Given the description of an element on the screen output the (x, y) to click on. 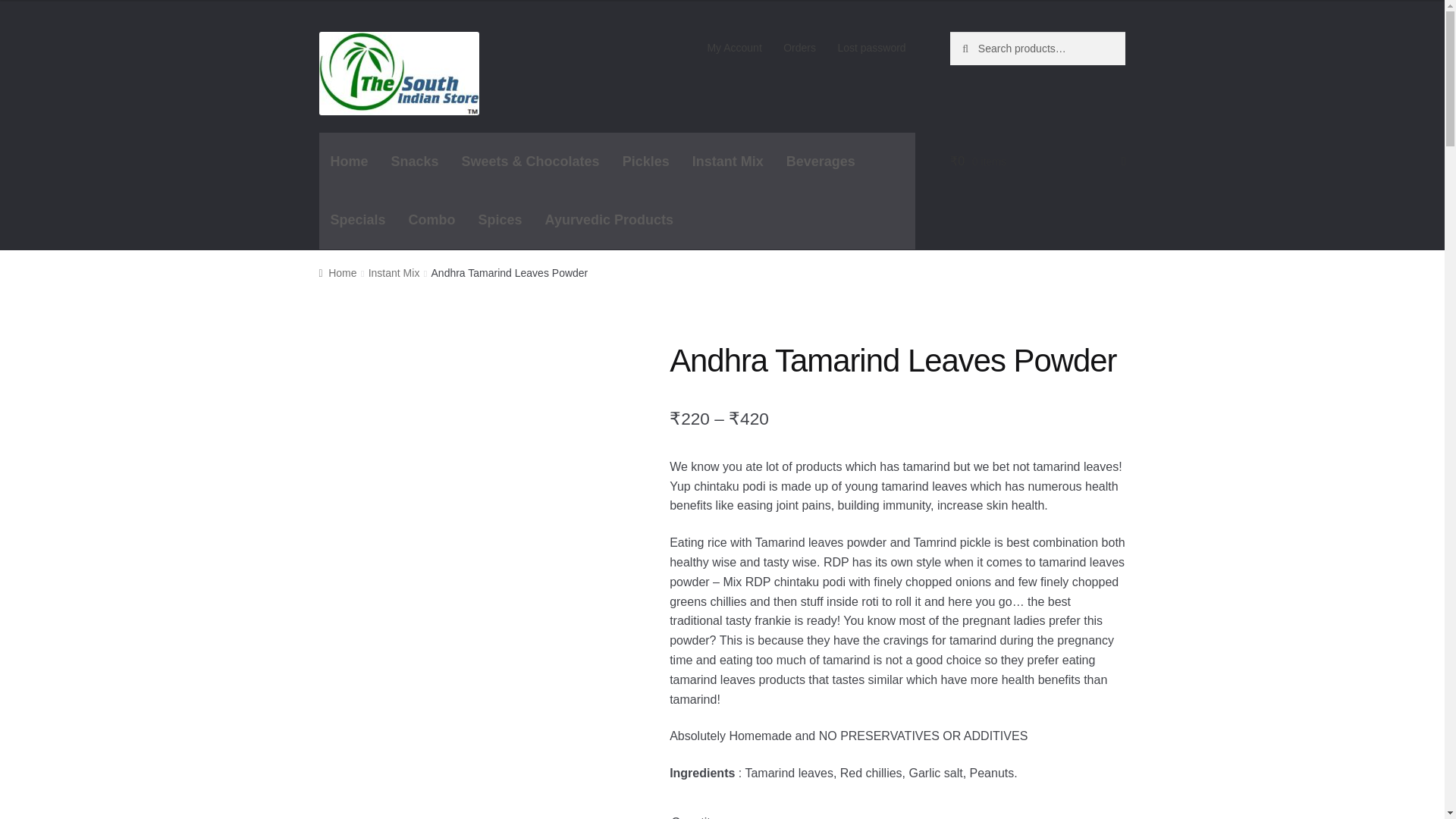
Beverages (820, 161)
Home (349, 161)
Pickles (646, 161)
Spices (500, 219)
Search (982, 46)
Ayurvedic Products (609, 219)
Snacks (414, 161)
My Account (734, 47)
Combo (432, 219)
Lost password (871, 47)
